Given the description of an element on the screen output the (x, y) to click on. 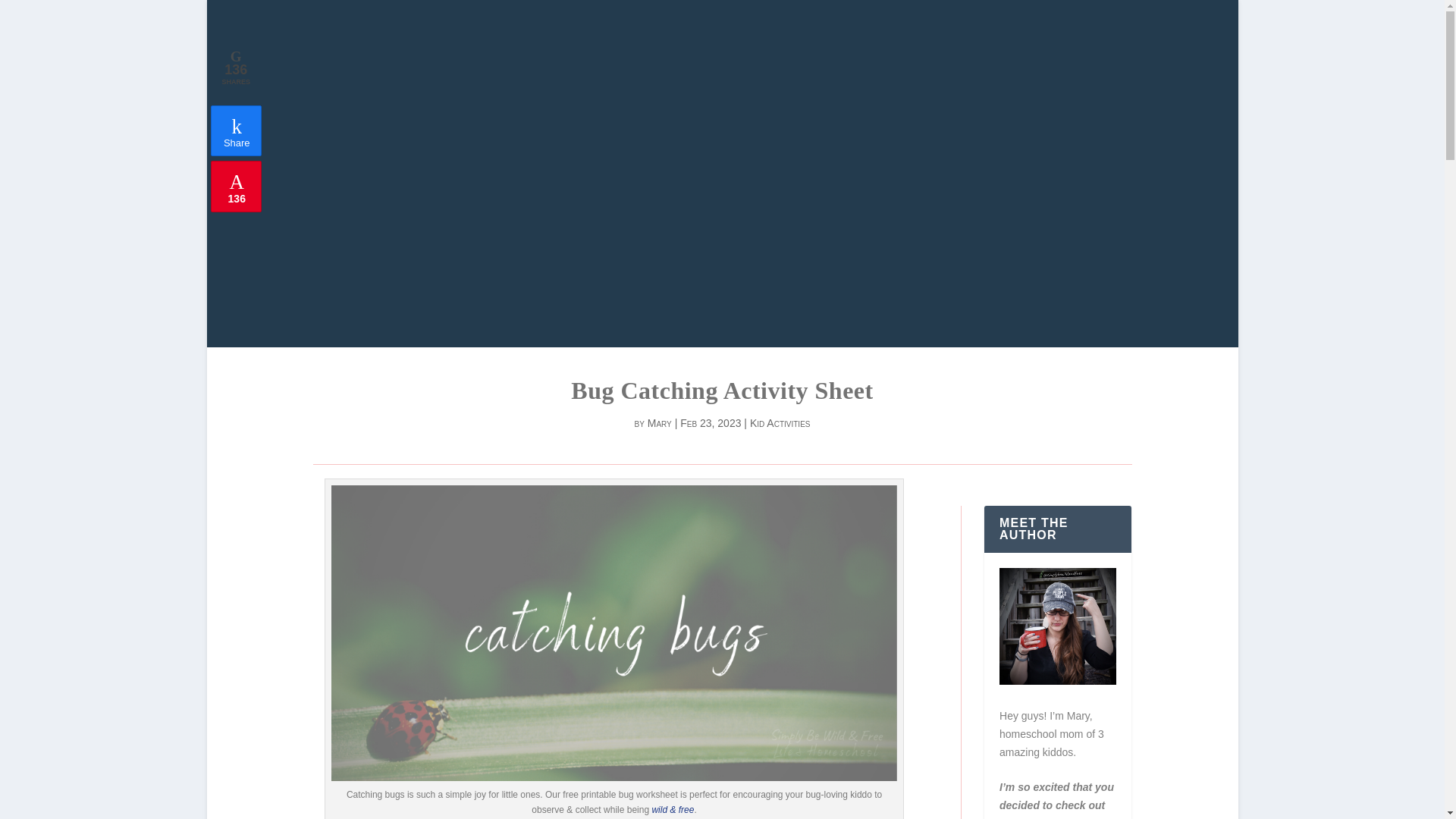
Posts by Mary (659, 422)
Mary (659, 422)
Kid Activities (779, 422)
